Given the description of an element on the screen output the (x, y) to click on. 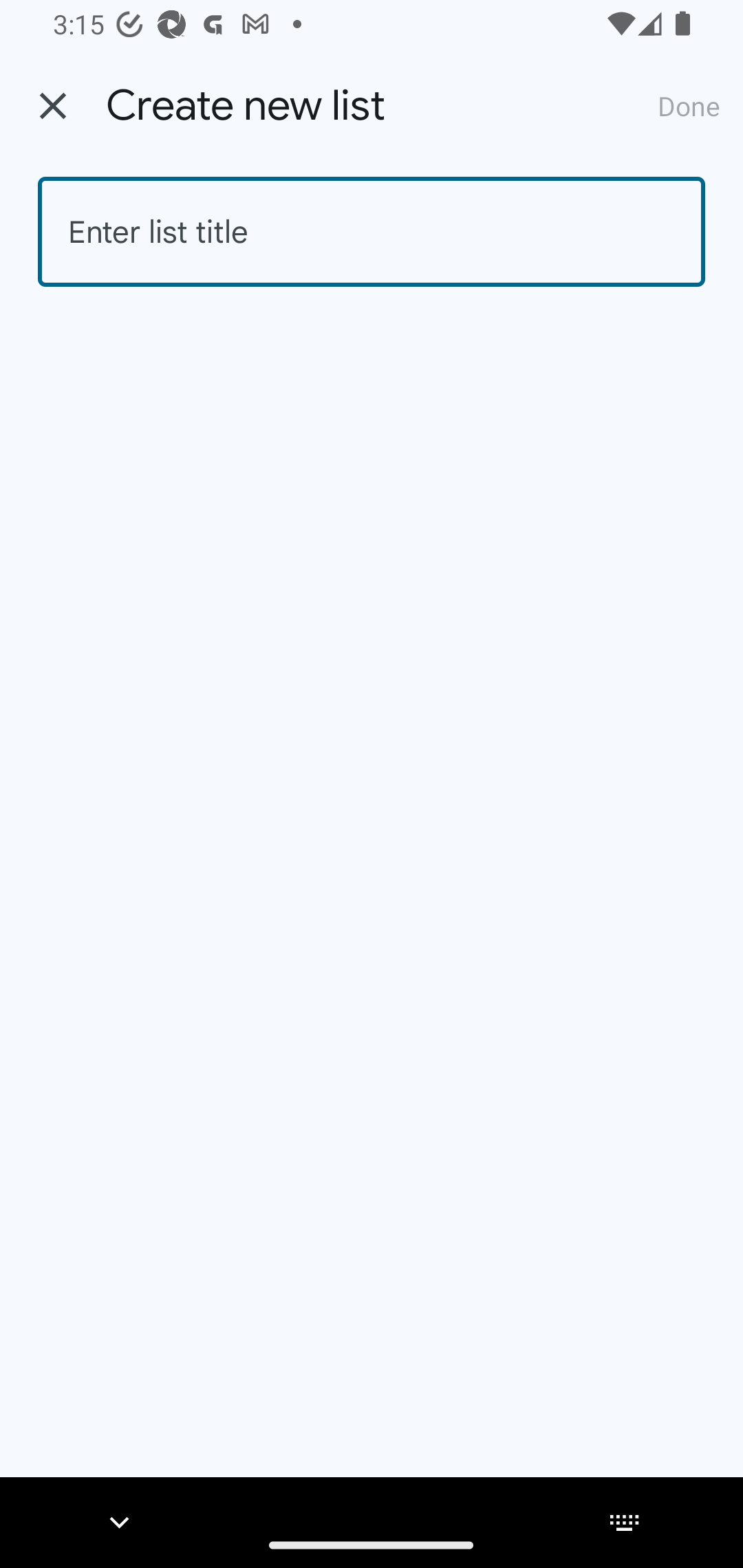
Back (53, 105)
Done (689, 105)
Enter list title (371, 231)
